Given the description of an element on the screen output the (x, y) to click on. 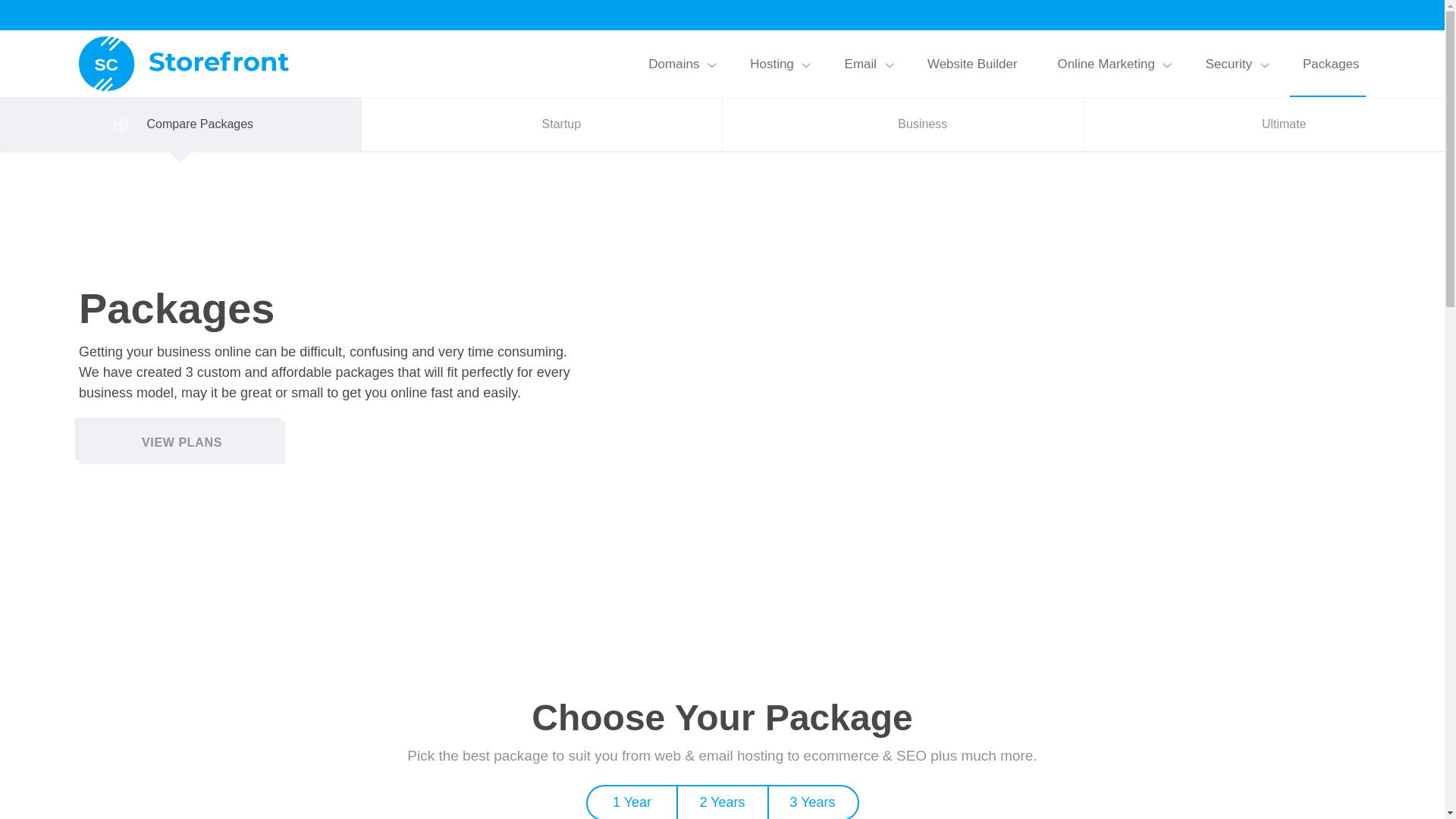
Packages (1331, 63)
Website Builder (973, 63)
Online Marketing (1105, 63)
SC (184, 63)
Business (902, 123)
Startup (541, 123)
Compare Packages (180, 123)
VIEW PLANS (181, 442)
SC (184, 63)
Domains (674, 63)
